Given the description of an element on the screen output the (x, y) to click on. 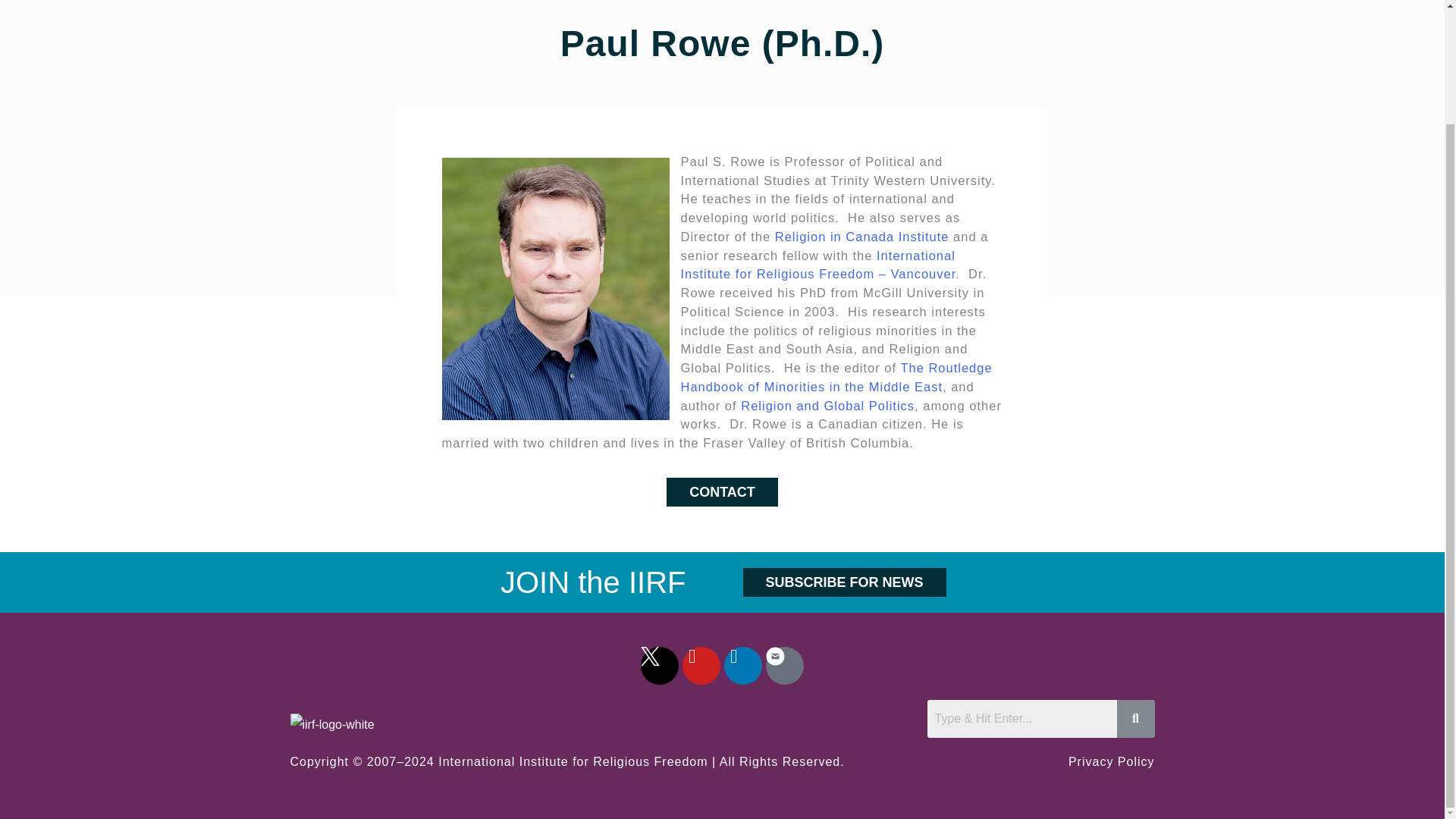
Linkedin (742, 665)
Privacy Policy (1111, 761)
Religion in Canada Institute (861, 236)
Youtube (701, 665)
Religion and Global Politics (827, 405)
The Routledge Handbook of Minorities in the Middle East (836, 377)
Search (1021, 718)
SUBSCRIBE FOR NEWS (844, 582)
CONTACT (721, 491)
